Given the description of an element on the screen output the (x, y) to click on. 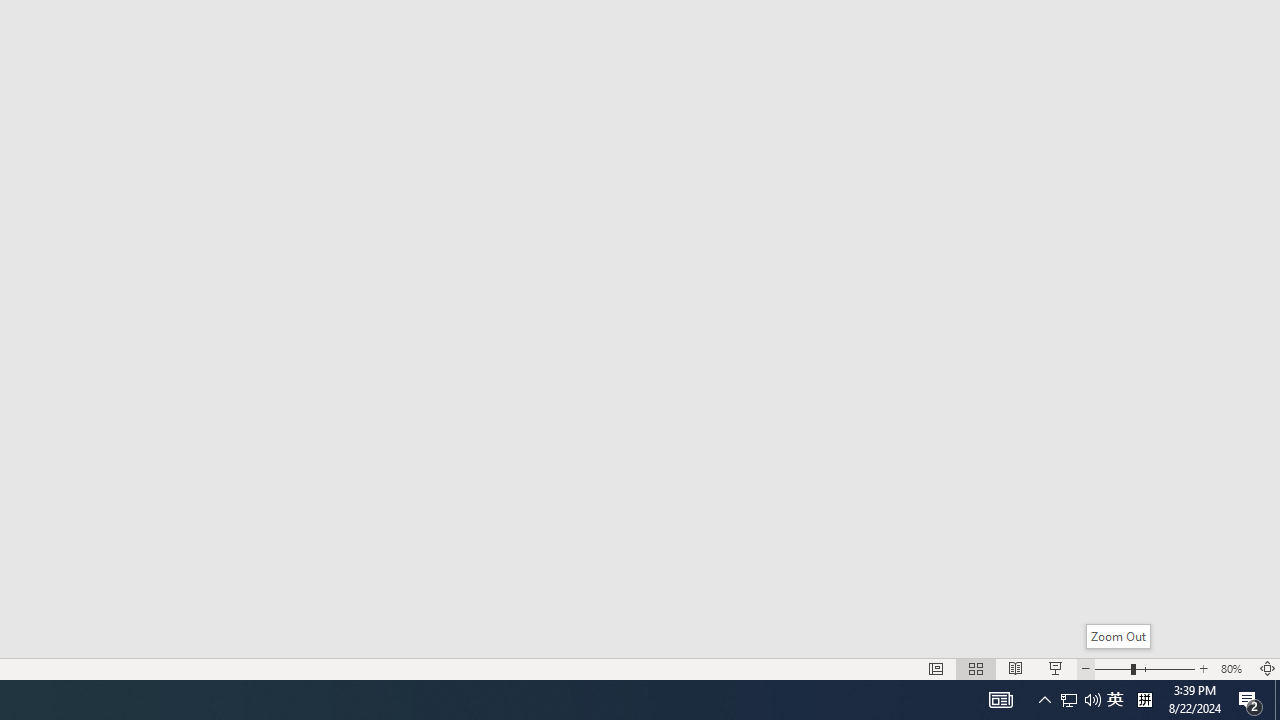
Action Center, 2 new notifications (1250, 699)
Zoom 80% (1234, 668)
